Given the description of an element on the screen output the (x, y) to click on. 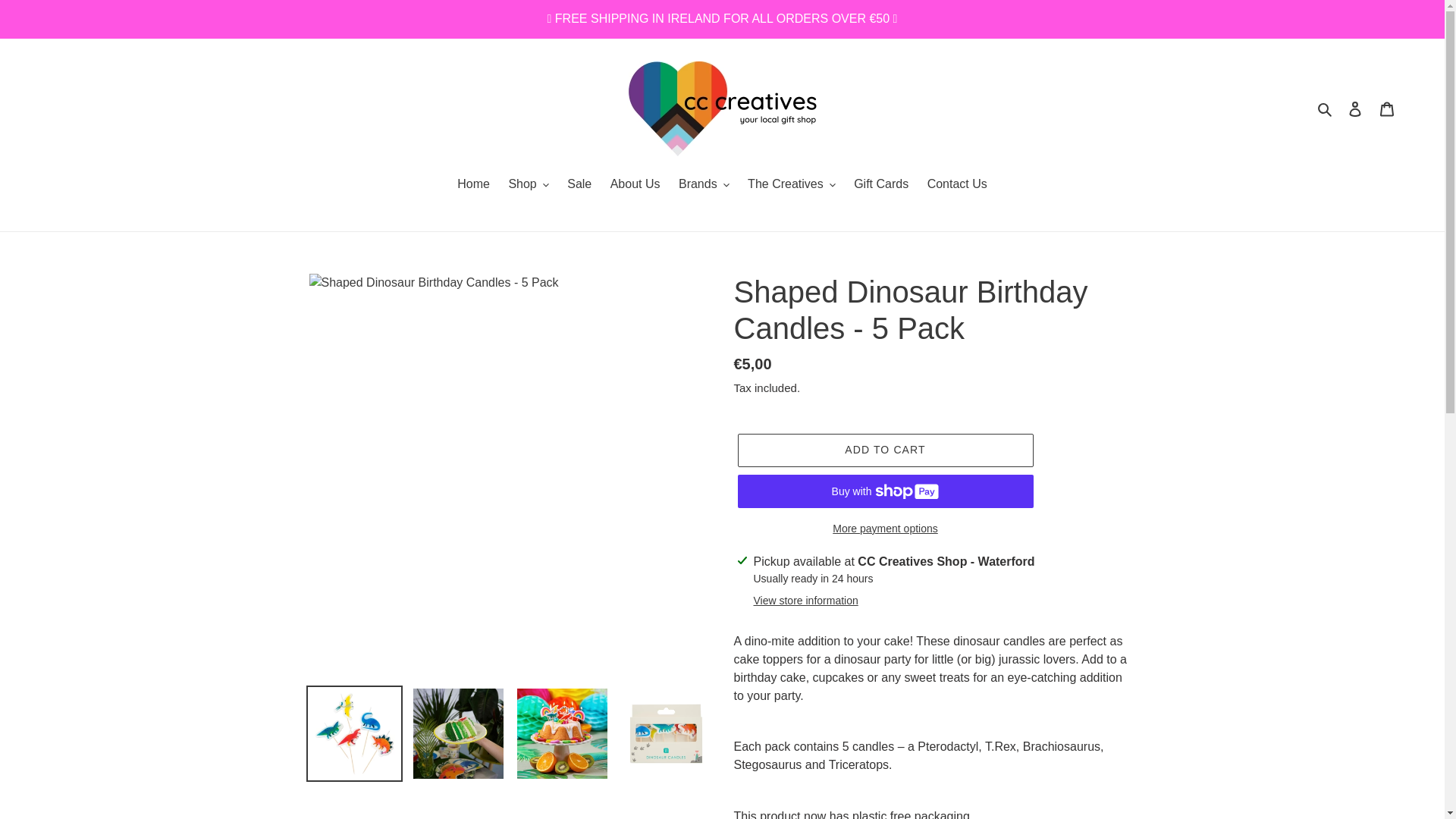
Search (1326, 107)
Cart (1387, 109)
Log in (1355, 109)
